Given the description of an element on the screen output the (x, y) to click on. 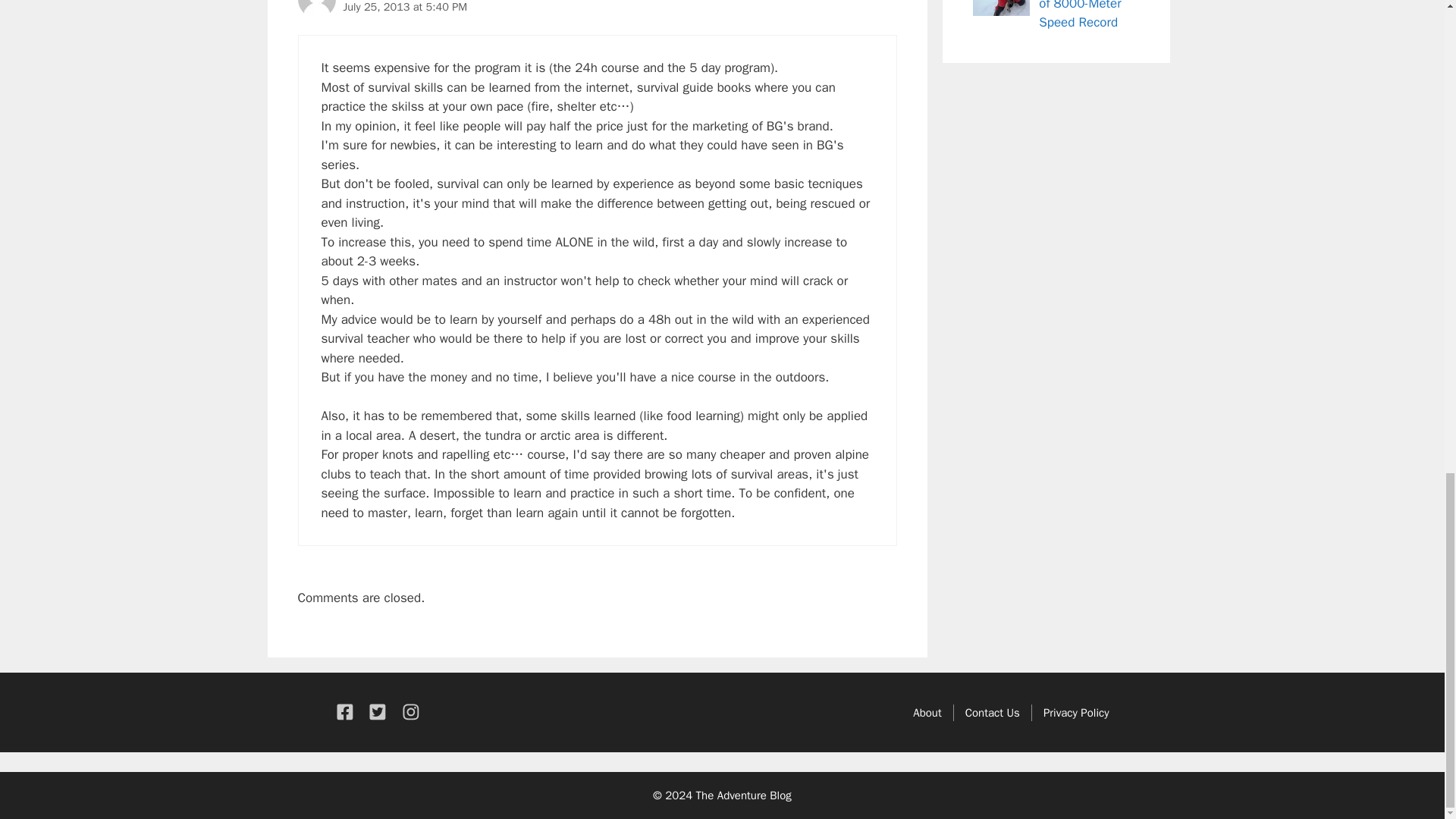
July 25, 2013 at 5:40 PM (404, 6)
